Given the description of an element on the screen output the (x, y) to click on. 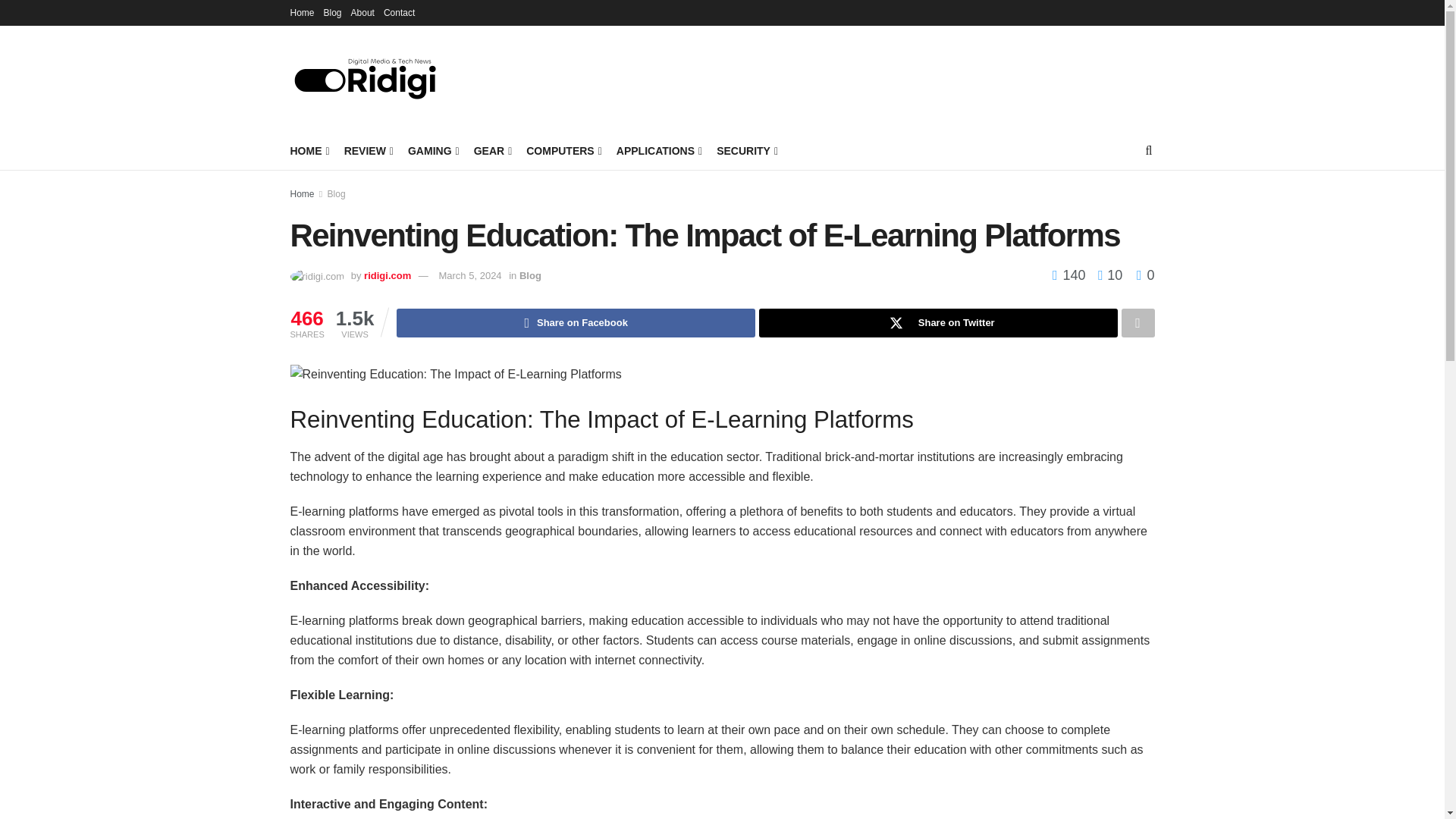
GAMING (432, 150)
Contact (399, 12)
About (362, 12)
HOME (307, 150)
REVIEW (367, 150)
GEAR (492, 150)
Home (301, 12)
